Given the description of an element on the screen output the (x, y) to click on. 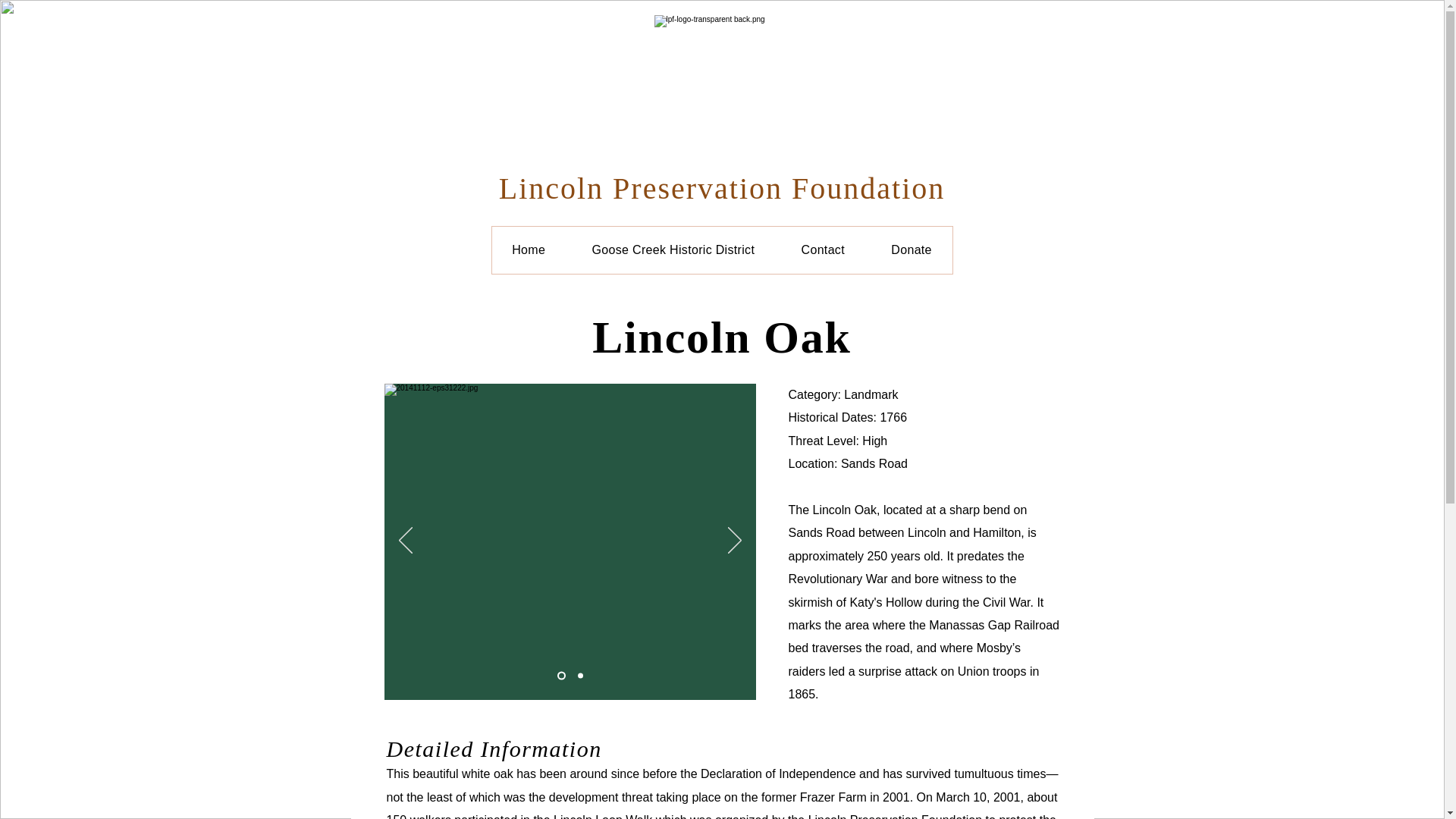
Home (528, 249)
Goose Creek Historic District (673, 249)
Contact (822, 249)
Donate (911, 249)
